Given the description of an element on the screen output the (x, y) to click on. 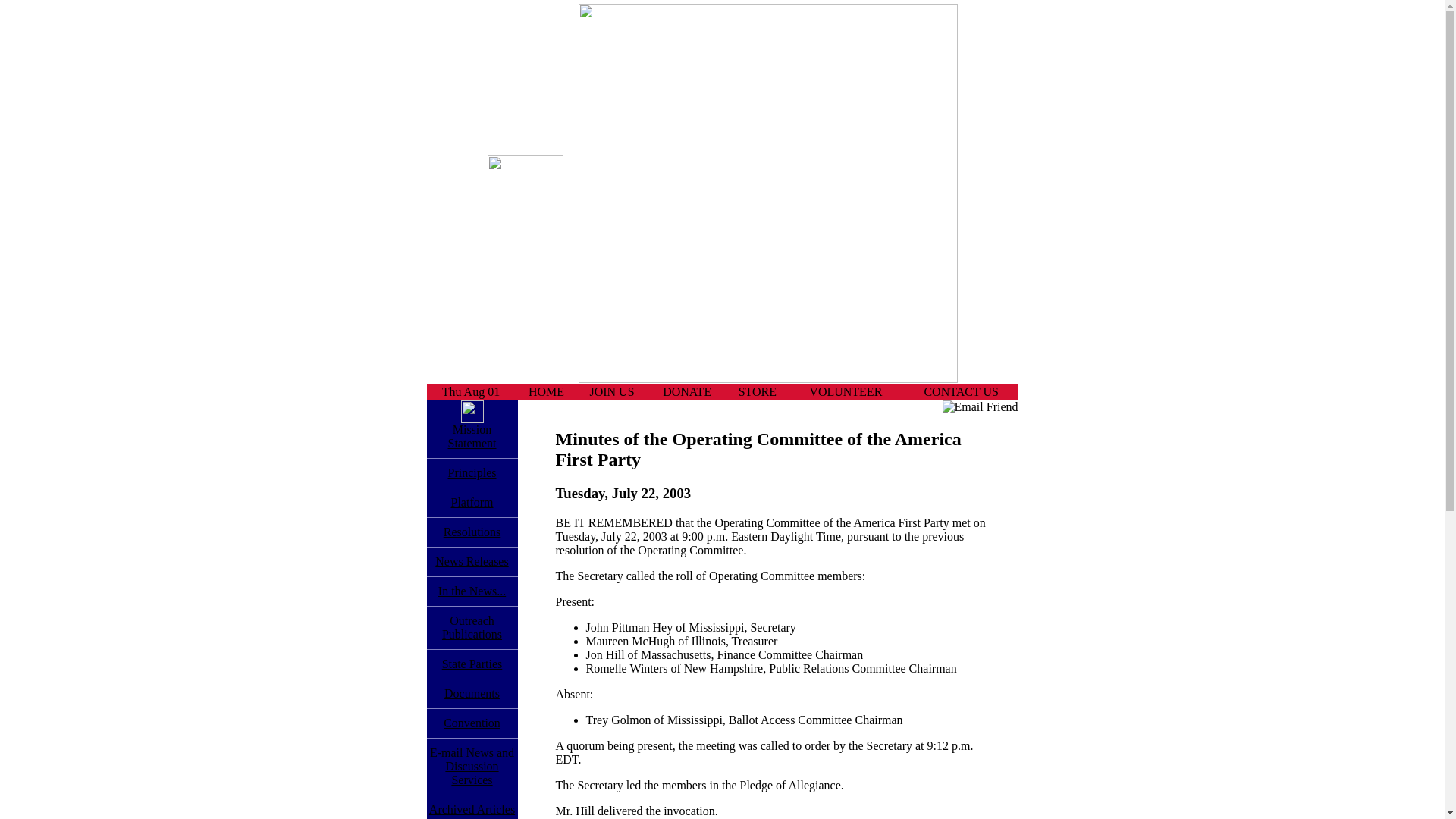
State Parties (472, 663)
Platform (471, 502)
E-mail News and Discussion Services (471, 766)
Resolutions (472, 627)
News Releases (472, 531)
HOME (471, 436)
STORE (471, 561)
JOIN US (546, 391)
DONATE (757, 391)
In the News... (611, 391)
Principles (686, 391)
Convention (471, 590)
Archived Articles (471, 472)
